Given the description of an element on the screen output the (x, y) to click on. 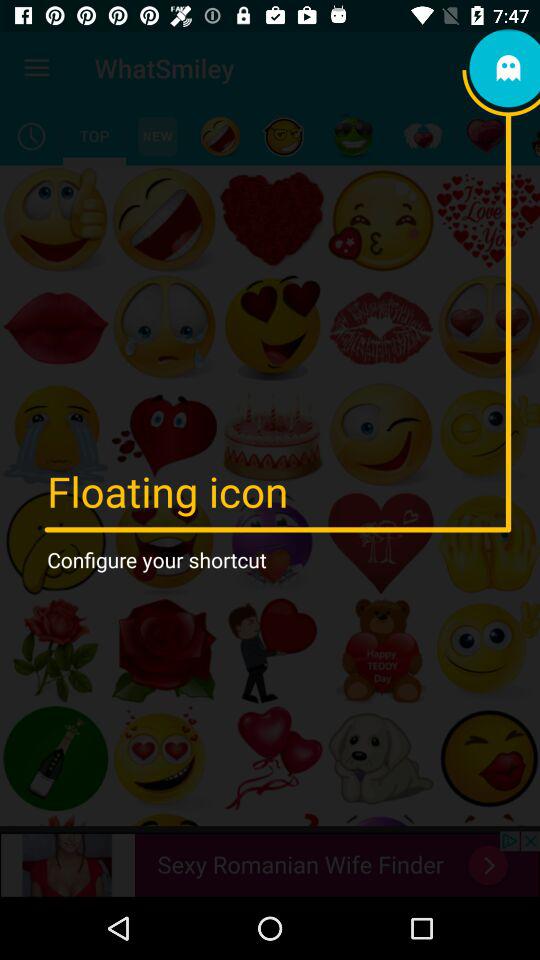
open advertisement in a browser (270, 864)
